Given the description of an element on the screen output the (x, y) to click on. 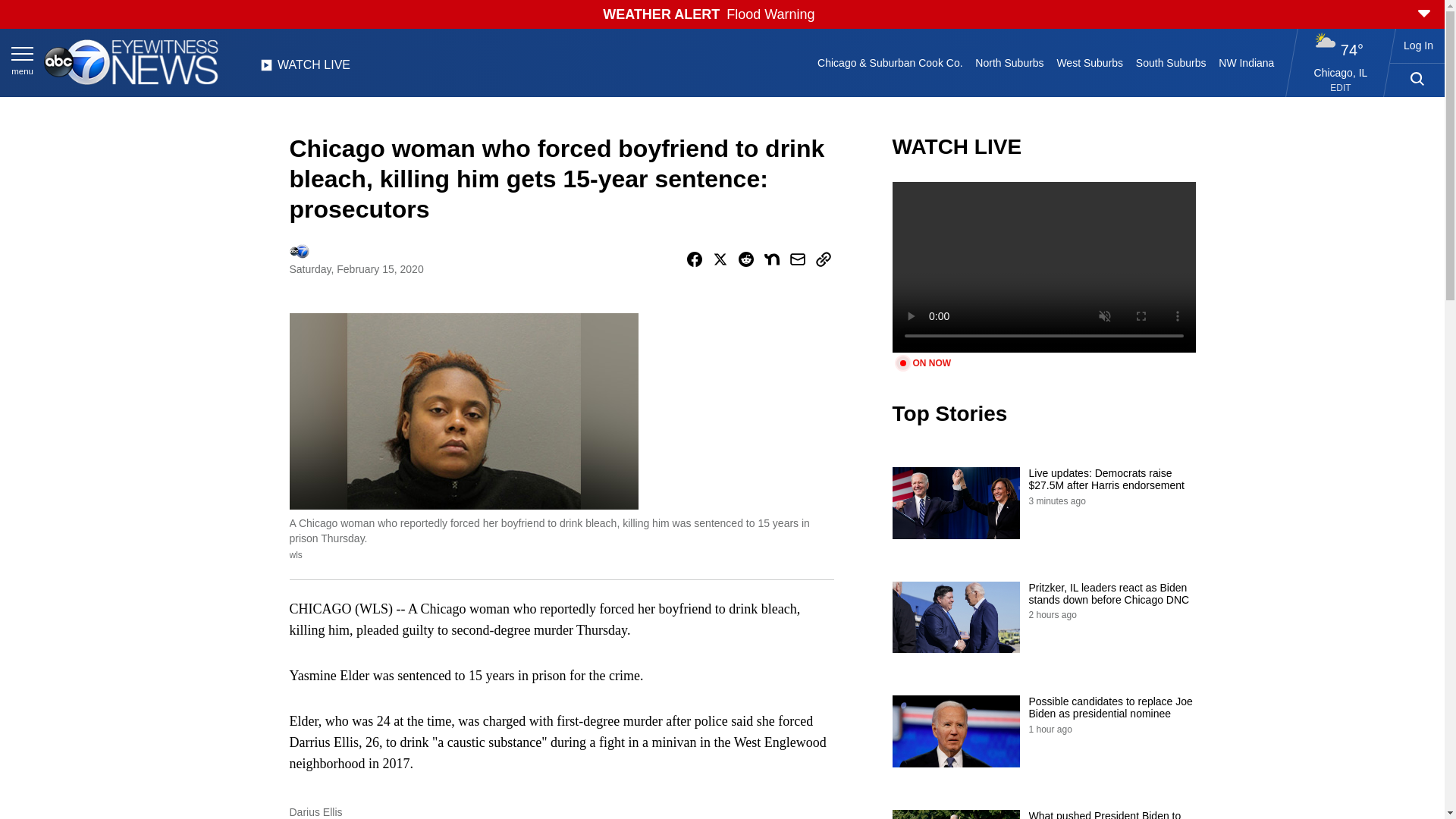
North Suburbs (1009, 62)
South Suburbs (1170, 62)
Chicago, IL (1340, 72)
EDIT (1340, 87)
video.title (1043, 266)
West Suburbs (1089, 62)
WATCH LIVE (305, 69)
NW Indiana (1246, 62)
